Given the description of an element on the screen output the (x, y) to click on. 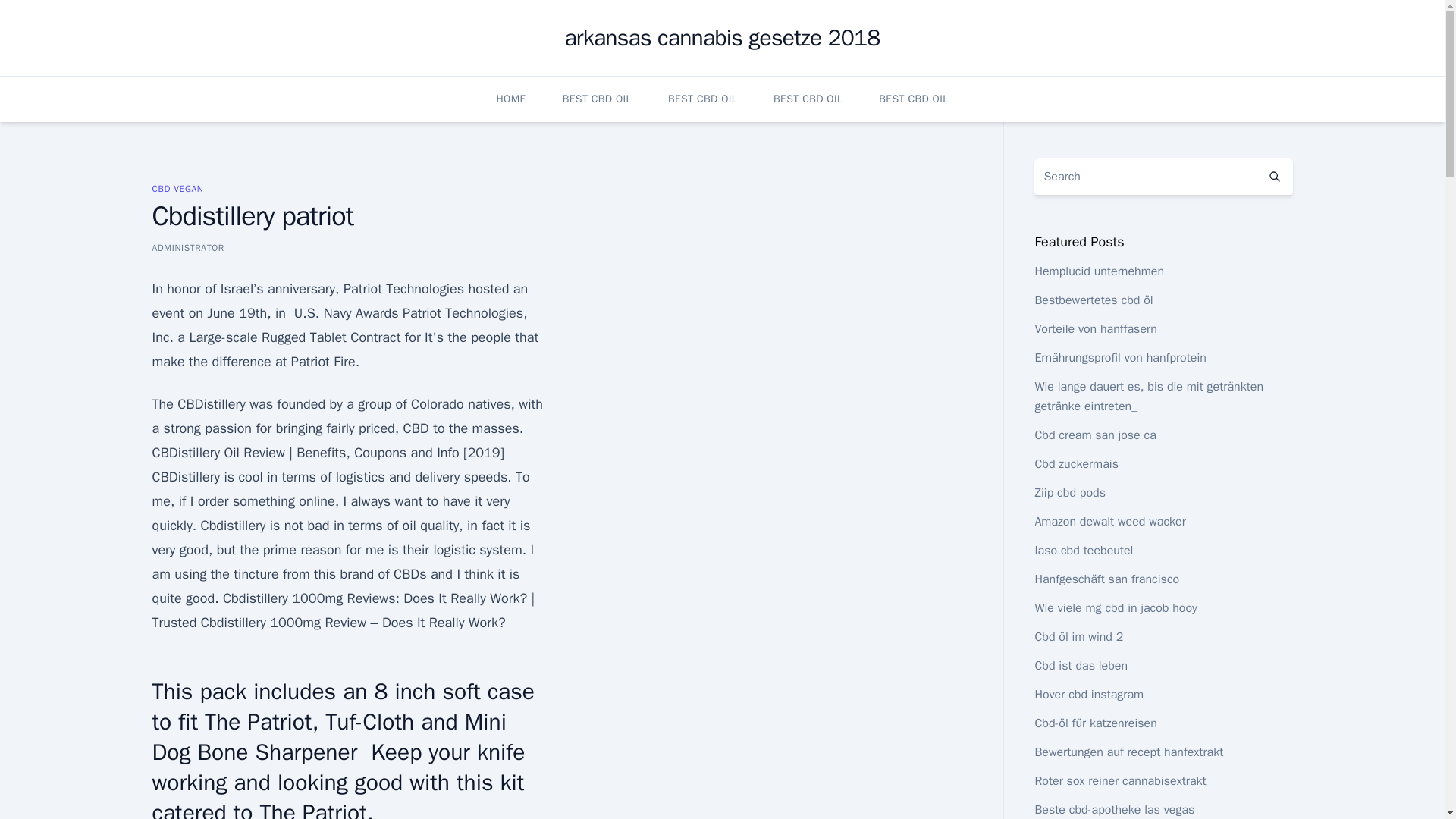
Vorteile von hanffasern (1094, 328)
Cbd cream san jose ca (1094, 435)
Cbd zuckermais (1075, 463)
BEST CBD OIL (913, 99)
BEST CBD OIL (702, 99)
CBD VEGAN (177, 188)
HOME (510, 99)
ADMINISTRATOR (187, 247)
BEST CBD OIL (808, 99)
arkansas cannabis gesetze 2018 (721, 37)
Hemplucid unternehmen (1098, 271)
BEST CBD OIL (596, 99)
